Given the description of an element on the screen output the (x, y) to click on. 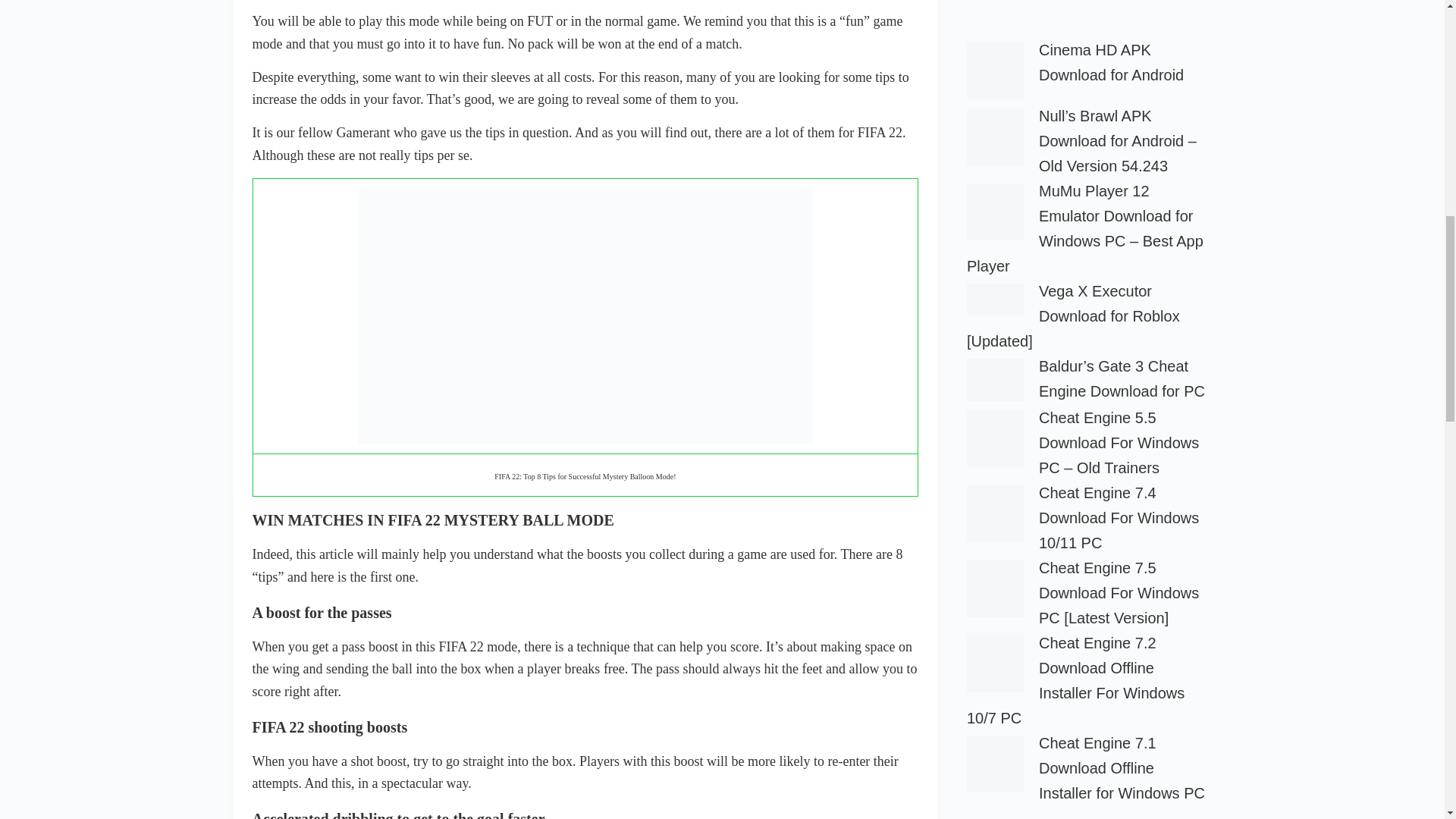
FIFA 22: Top 8 Tips for Successful Mystery Balloon Mode! (585, 316)
